Given the description of an element on the screen output the (x, y) to click on. 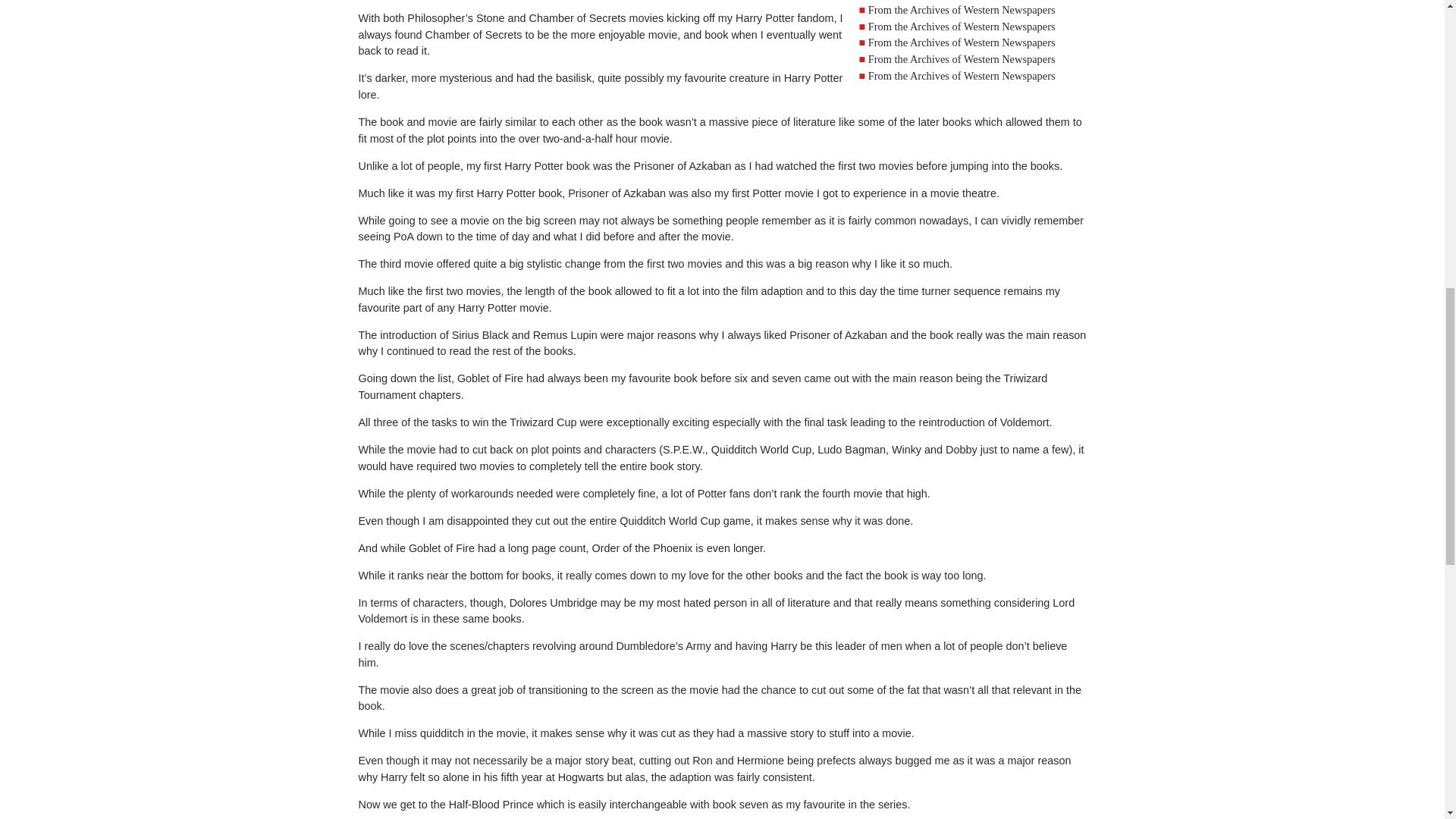
From the Archives of Western Newspapers (961, 9)
From the Archives of Western Newspapers (961, 75)
From the Archives of Western Newspapers (961, 42)
From the Archives of Western Newspapers (961, 26)
From the Archives of Western Newspapers (961, 59)
